Given the description of an element on the screen output the (x, y) to click on. 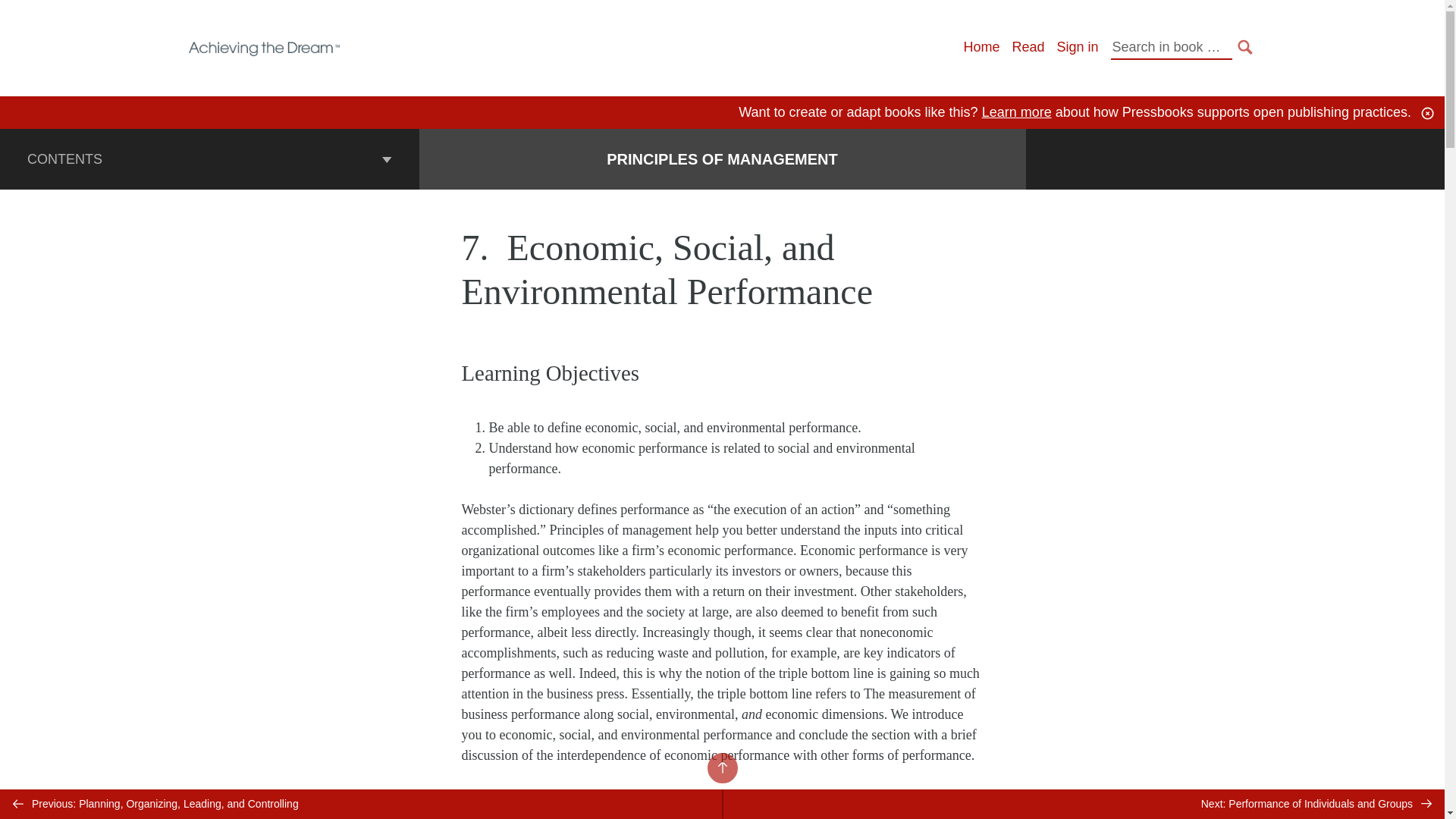
PRINCIPLES OF MANAGEMENT (722, 159)
Previous: Planning, Organizing, Leading, and Controlling (361, 804)
Previous: Planning, Organizing, Leading, and Controlling (361, 804)
Read (1027, 46)
Sign in (1077, 46)
CONTENTS (209, 158)
Home (980, 46)
BACK TO TOP (721, 767)
Learn more (1016, 111)
